Given the description of an element on the screen output the (x, y) to click on. 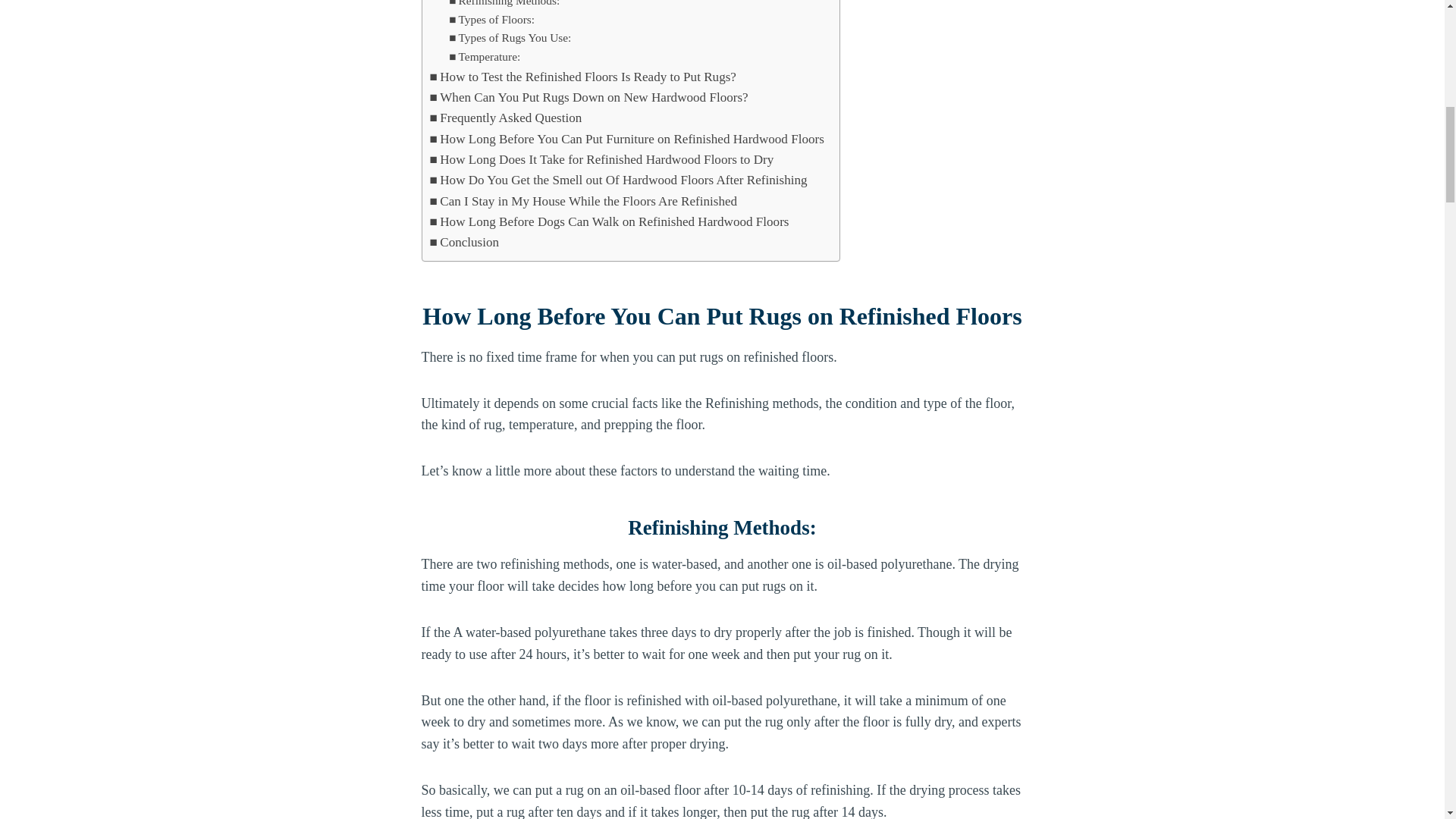
How Long Before Dogs Can Walk on Refinished Hardwood Floors (609, 221)
Conclusion (464, 241)
How Long Does It Take for Refinished Hardwood Floors to Dry (601, 159)
Types of Rugs You Use: (509, 37)
Types of Floors: (491, 19)
How to Test the Refinished Floors Is Ready to Put Rugs? (582, 76)
Can I Stay in My House While the Floors Are Refinished (582, 200)
When Can You Put Rugs Down on New Hardwood Floors? (588, 96)
Refinishing Methods: (503, 5)
Frequently Asked Question (504, 117)
Temperature: (483, 56)
Frequently Asked Question (504, 117)
How to Test the Refinished Floors Is Ready to Put Rugs? (582, 76)
